Given the description of an element on the screen output the (x, y) to click on. 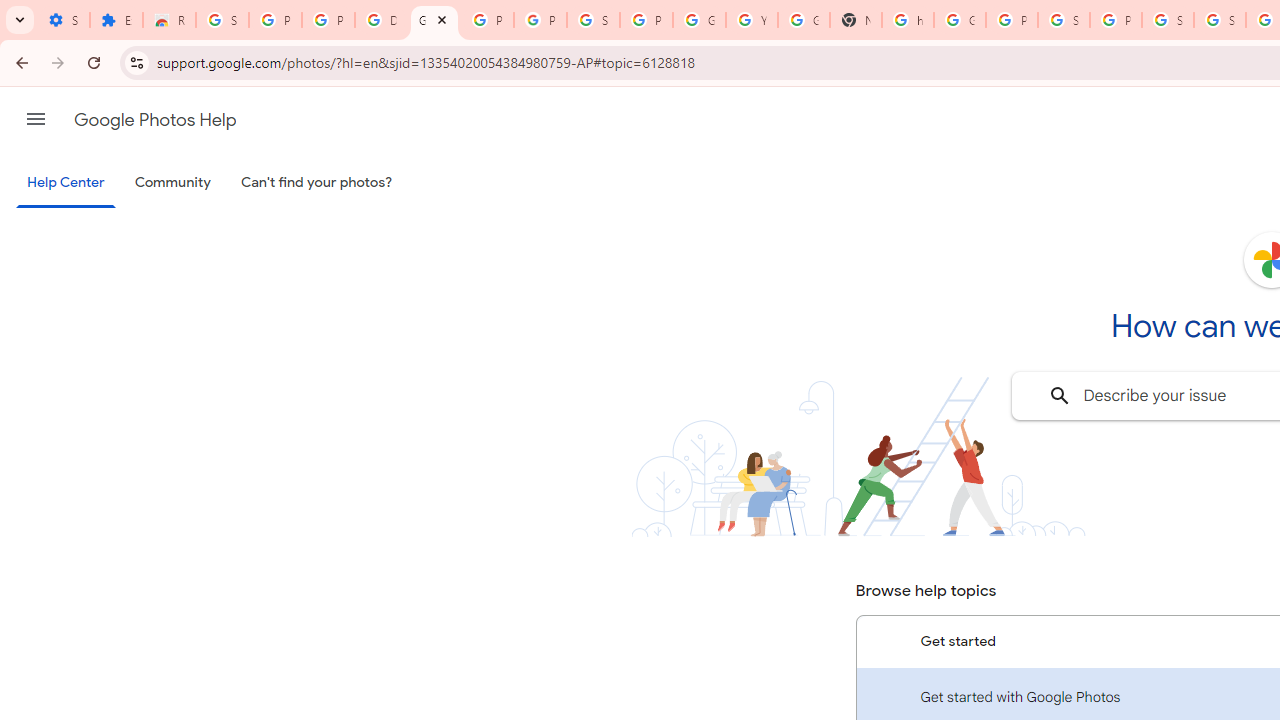
Sign in - Google Accounts (1219, 20)
https://scholar.google.com/ (907, 20)
Can't find your photos? (317, 183)
Settings - On startup (63, 20)
Google Photos Help (434, 20)
